Given the description of an element on the screen output the (x, y) to click on. 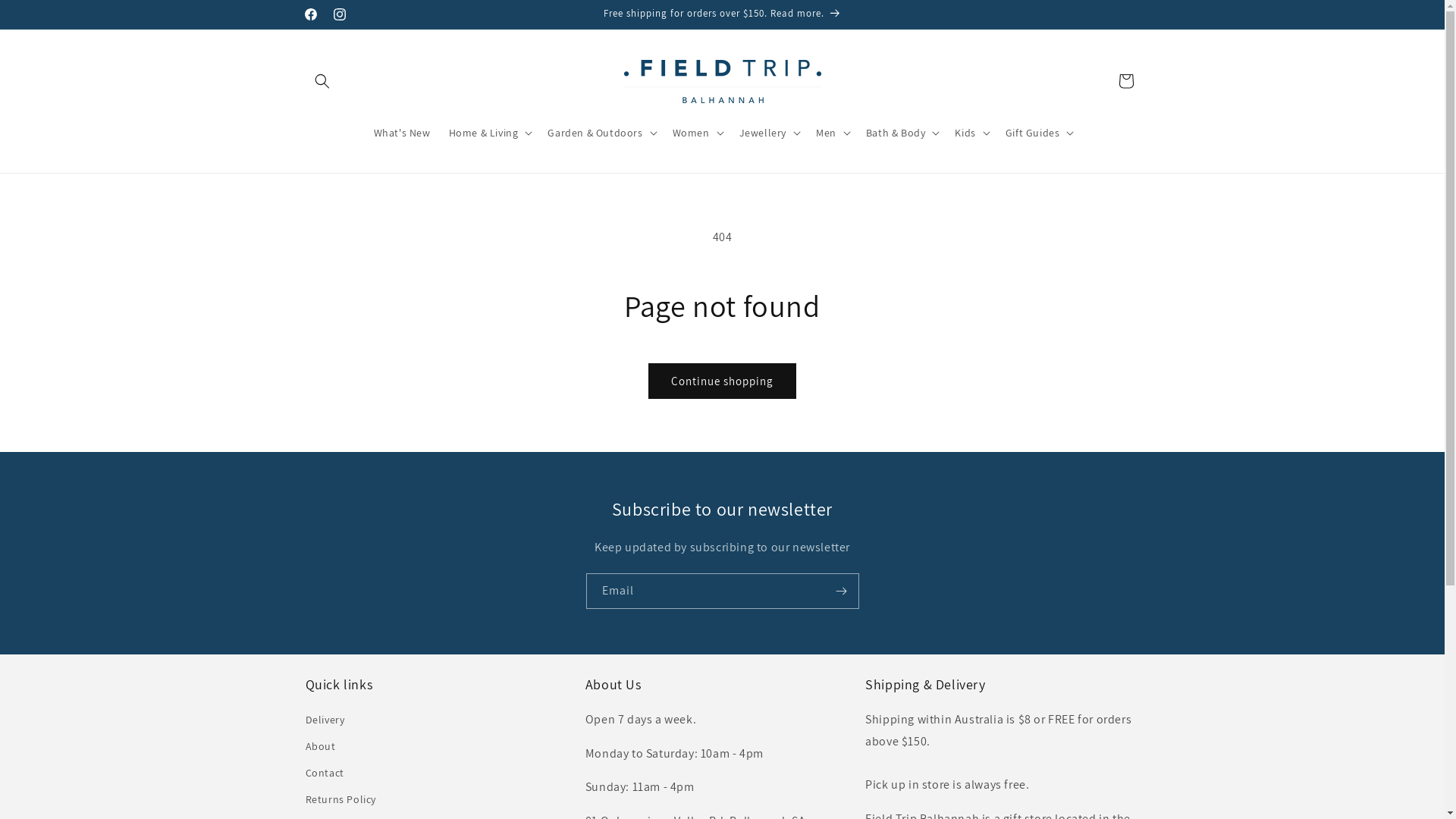
Cart Element type: text (1125, 80)
Free shipping for orders over $150. Read more. Element type: text (722, 14)
What's New Element type: text (401, 132)
Returns Policy Element type: text (339, 799)
Continue shopping Element type: text (722, 380)
Facebook Element type: text (309, 14)
Contact Element type: text (323, 772)
About Element type: text (319, 746)
Instagram Element type: text (338, 14)
Delivery Element type: text (324, 721)
